Given the description of an element on the screen output the (x, y) to click on. 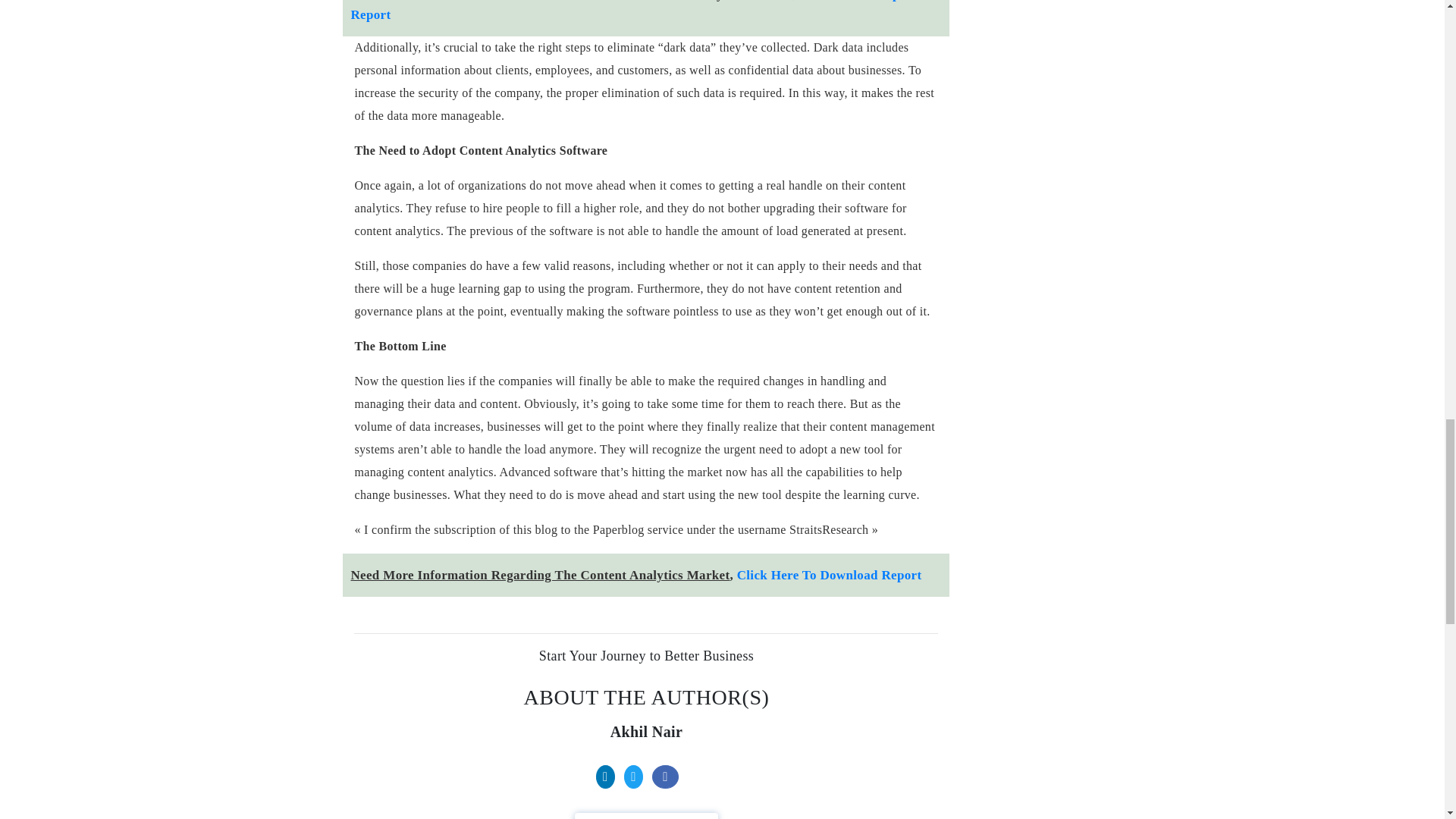
Share On Linkedin (609, 776)
Share On Twitter (636, 776)
Share On Facebook (668, 776)
